Given the description of an element on the screen output the (x, y) to click on. 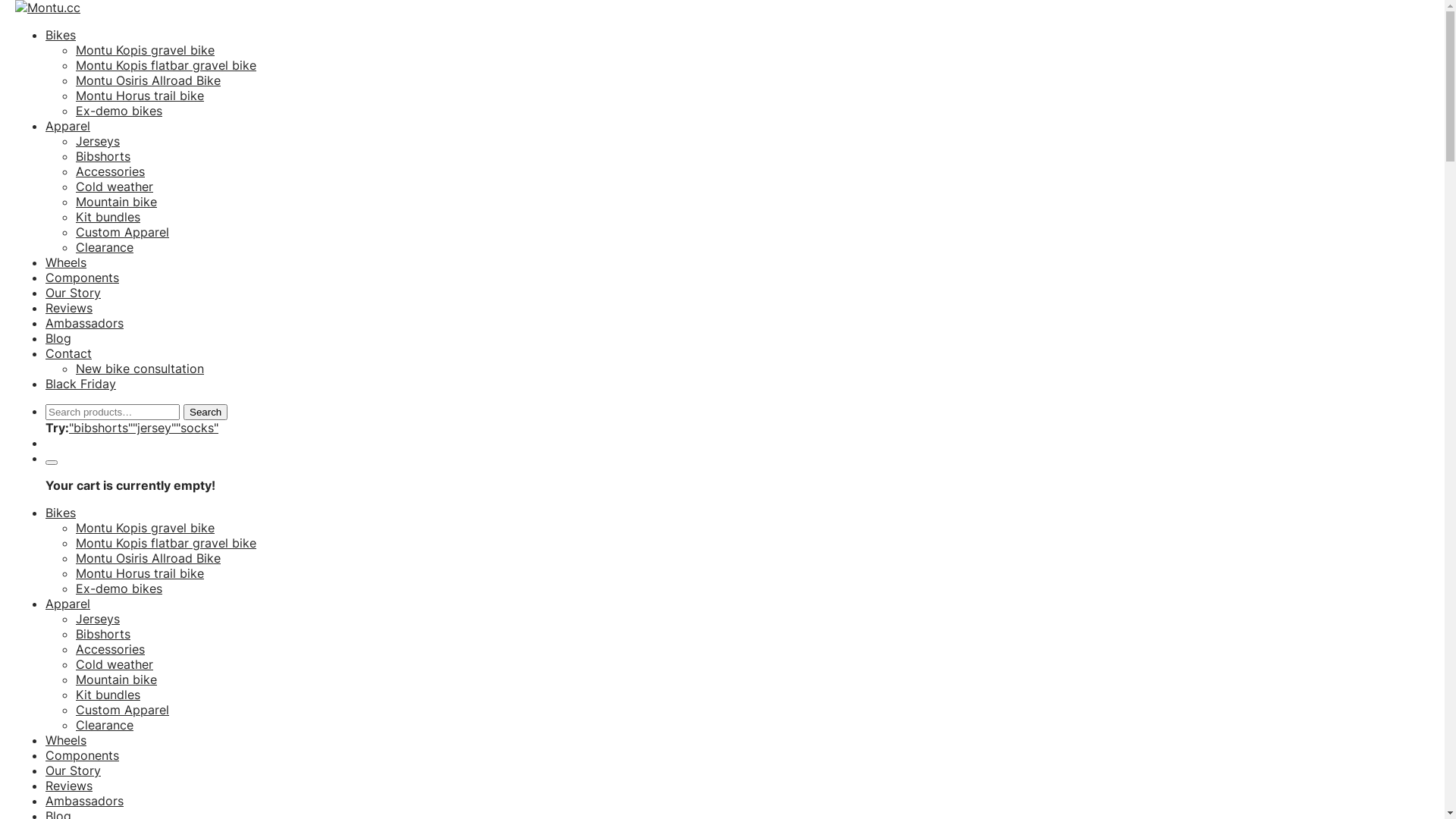
Clearance Element type: text (104, 246)
Cold weather Element type: text (114, 186)
Apparel Element type: text (67, 603)
Bibshorts Element type: text (102, 633)
Bibshorts Element type: text (102, 155)
Bikes Element type: text (60, 34)
"socks" Element type: text (196, 427)
Black Friday Element type: text (80, 383)
Clearance Element type: text (104, 724)
Kit bundles Element type: text (107, 694)
Cold weather Element type: text (114, 663)
Ambassadors Element type: text (84, 322)
Reviews Element type: text (68, 307)
New bike consultation Element type: text (139, 368)
Search Element type: text (205, 412)
"bibshorts" Element type: text (100, 427)
Ex-demo bikes Element type: text (118, 110)
Reviews Element type: text (68, 785)
Montu Kopis flatbar gravel bike Element type: text (165, 542)
Apparel Element type: text (67, 125)
Jerseys Element type: text (97, 618)
Montu Kopis gravel bike Element type: text (144, 527)
Accessories Element type: text (109, 170)
Wheels Element type: text (65, 261)
Blog Element type: text (58, 337)
Components Element type: text (82, 754)
Ex-demo bikes Element type: text (118, 588)
Accessories Element type: text (109, 648)
Jerseys Element type: text (97, 140)
Mountain bike Element type: text (115, 679)
Mountain bike Element type: text (115, 201)
Montu Osiris Allroad Bike Element type: text (147, 557)
Kit bundles Element type: text (107, 216)
Wheels Element type: text (65, 739)
Montu Kopis flatbar gravel bike Element type: text (165, 64)
Our Story Element type: text (72, 292)
Our Story Element type: text (72, 770)
Ambassadors Element type: text (84, 800)
Montu Osiris Allroad Bike Element type: text (147, 79)
Montu Kopis gravel bike Element type: text (144, 49)
Custom Apparel Element type: text (122, 231)
Custom Apparel Element type: text (122, 709)
Montu Horus trail bike Element type: text (139, 572)
"jersey" Element type: text (153, 427)
Contact Element type: text (68, 352)
Components Element type: text (82, 277)
Montu Horus trail bike Element type: text (139, 95)
Bikes Element type: text (60, 512)
